Given the description of an element on the screen output the (x, y) to click on. 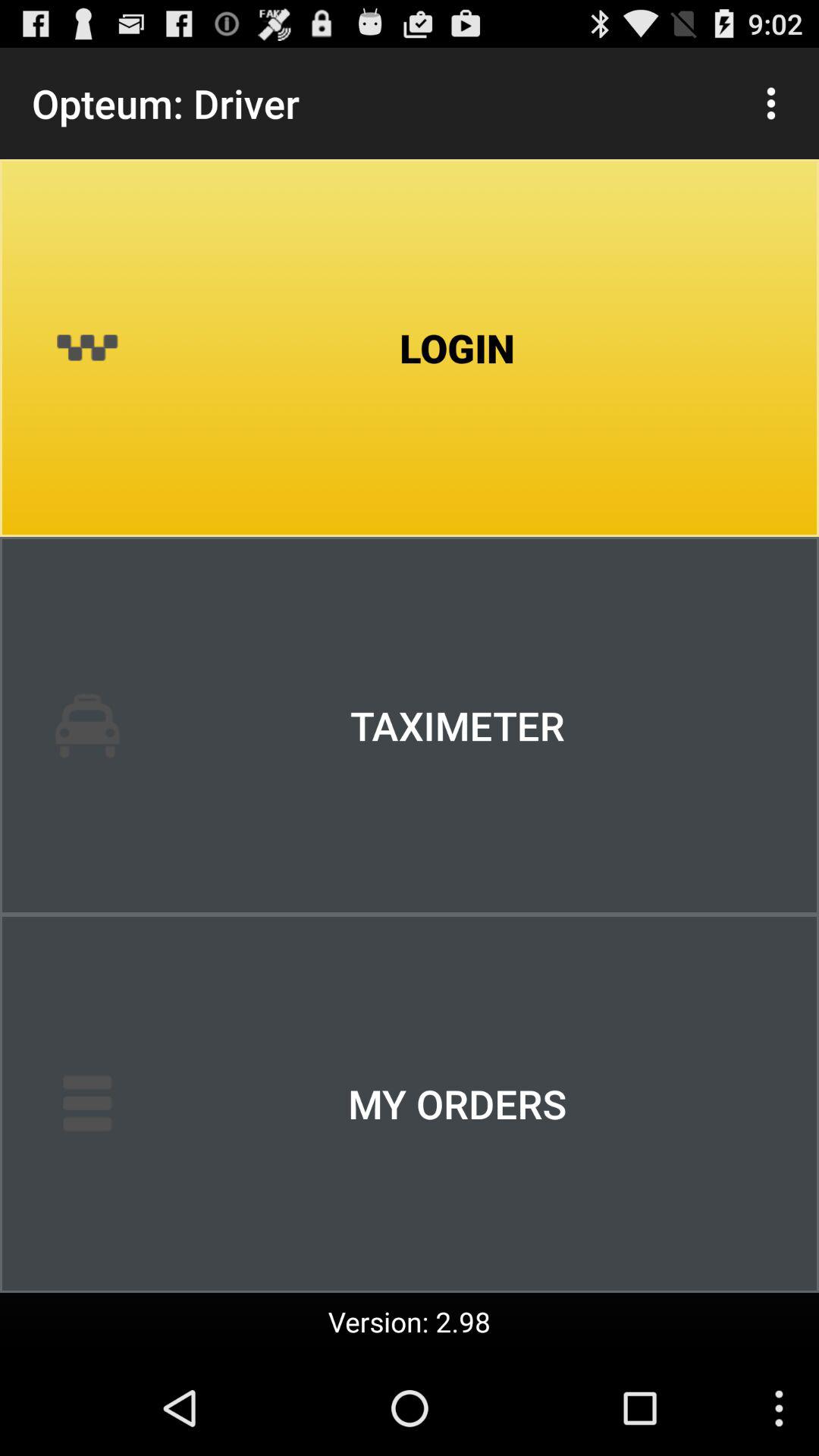
tap item at the center (409, 725)
